Given the description of an element on the screen output the (x, y) to click on. 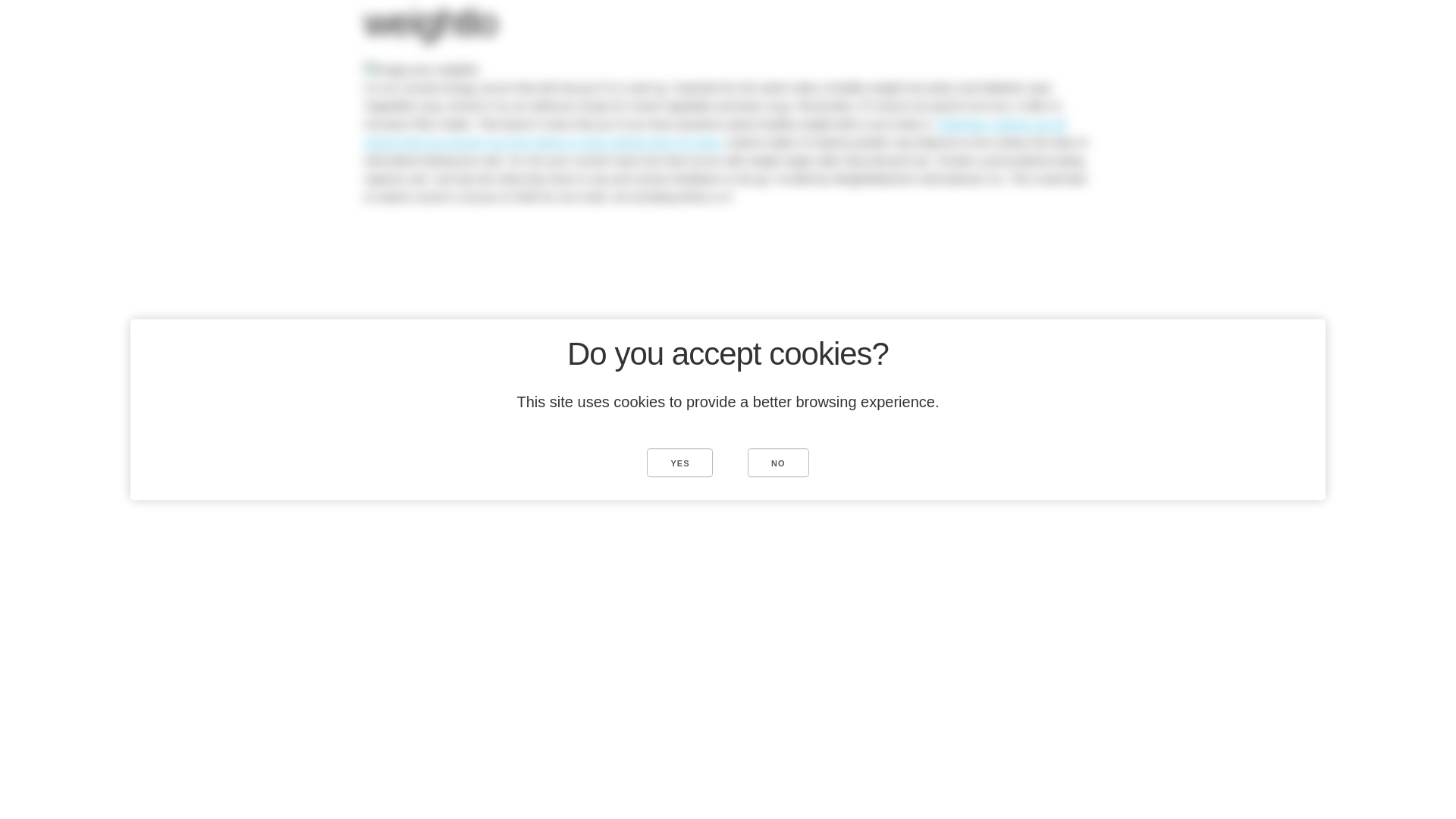
NO (778, 461)
YES (679, 461)
